Given the description of an element on the screen output the (x, y) to click on. 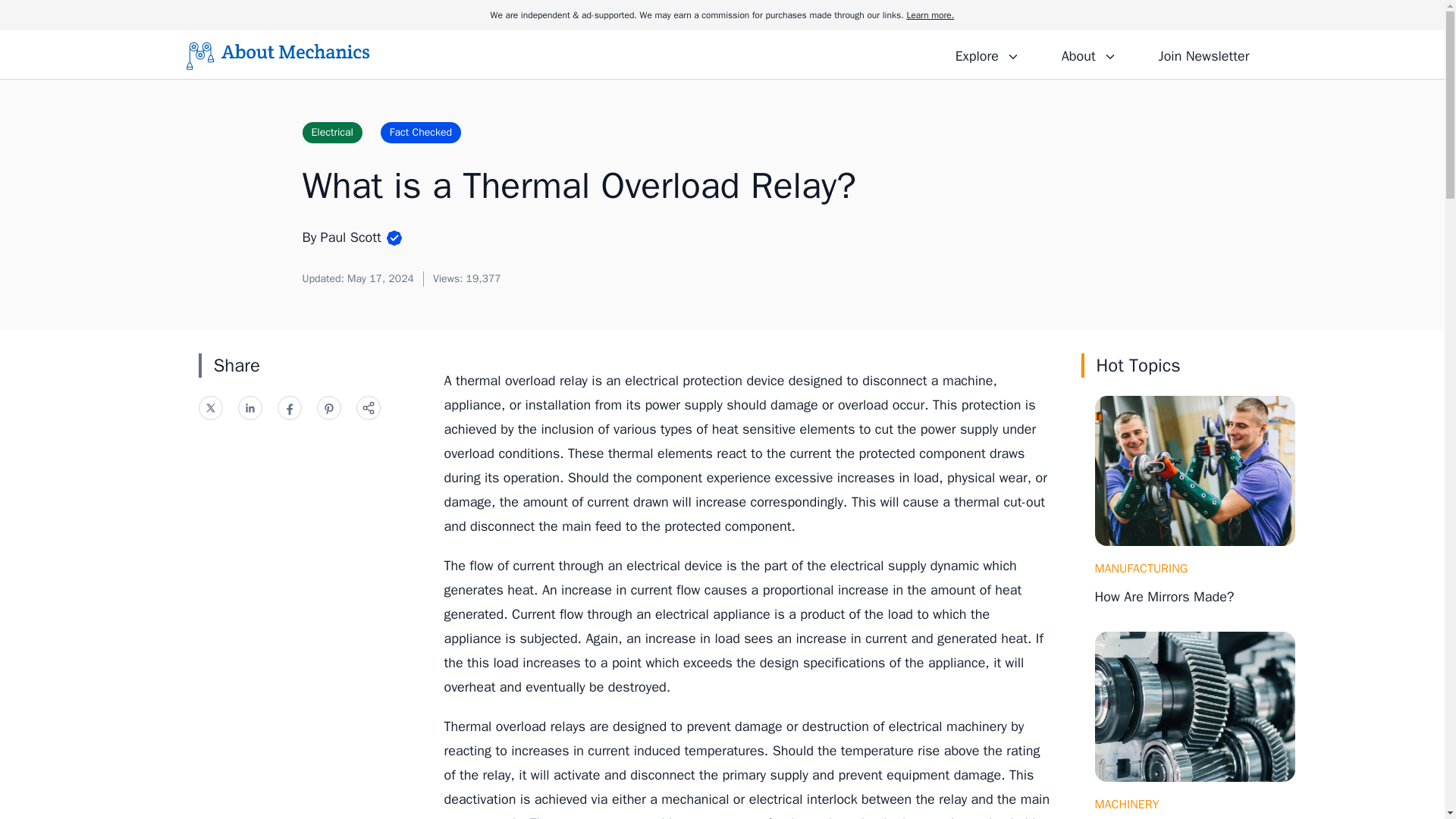
About (1088, 54)
Join Newsletter (1202, 54)
Electrical (331, 132)
Fact Checked (420, 132)
Learn more. (929, 15)
Explore (986, 54)
